Given the description of an element on the screen output the (x, y) to click on. 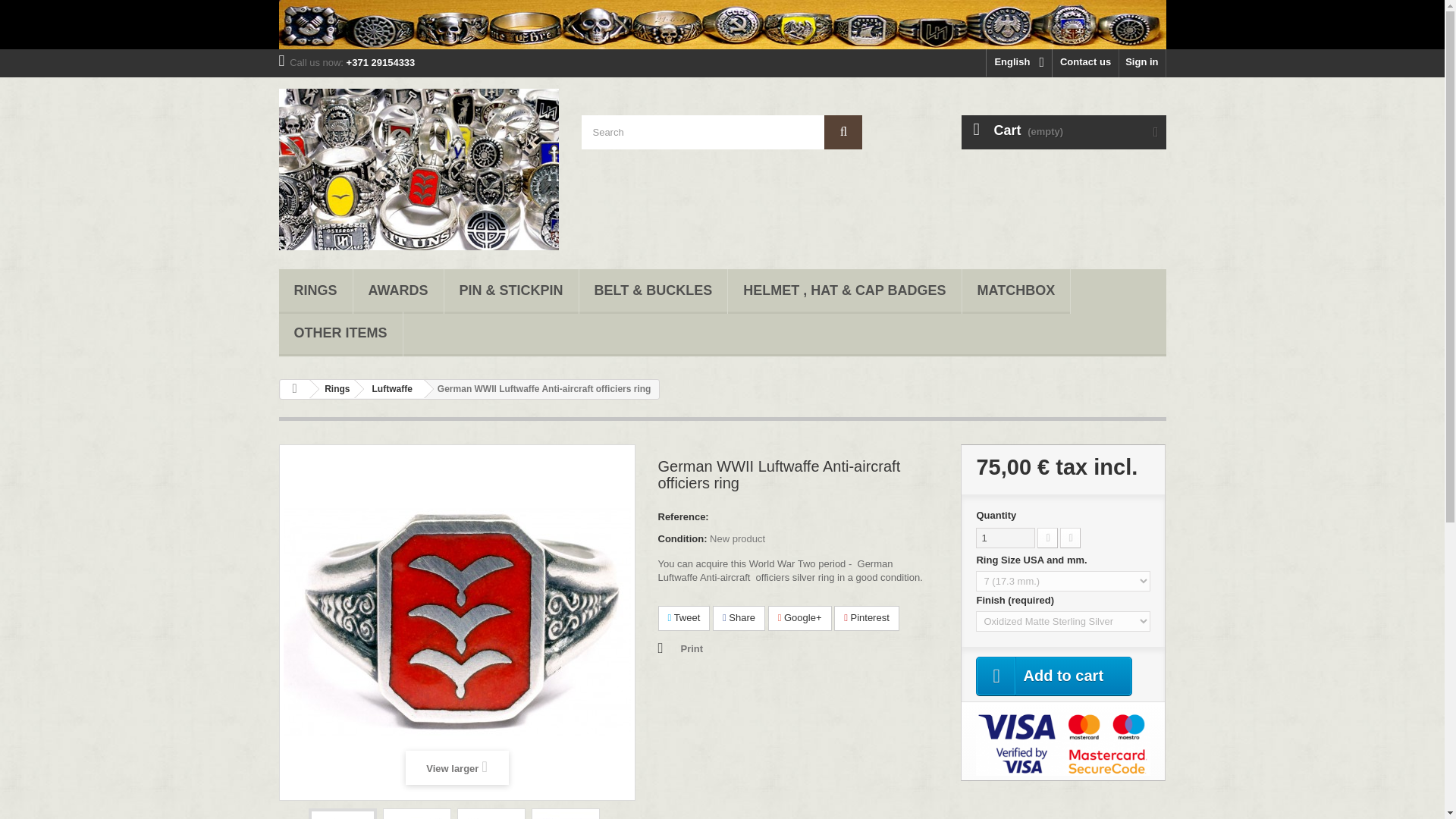
RINGS (315, 291)
View my shopping cart (1063, 132)
Rings (315, 291)
Contact us (1085, 62)
Log in to your customer account (1141, 62)
1 (1005, 537)
Contact us (1085, 62)
German rings and other war awards (722, 24)
Sign in (1141, 62)
German WW2 rings and other Militaria awards (419, 169)
